Given the description of an element on the screen output the (x, y) to click on. 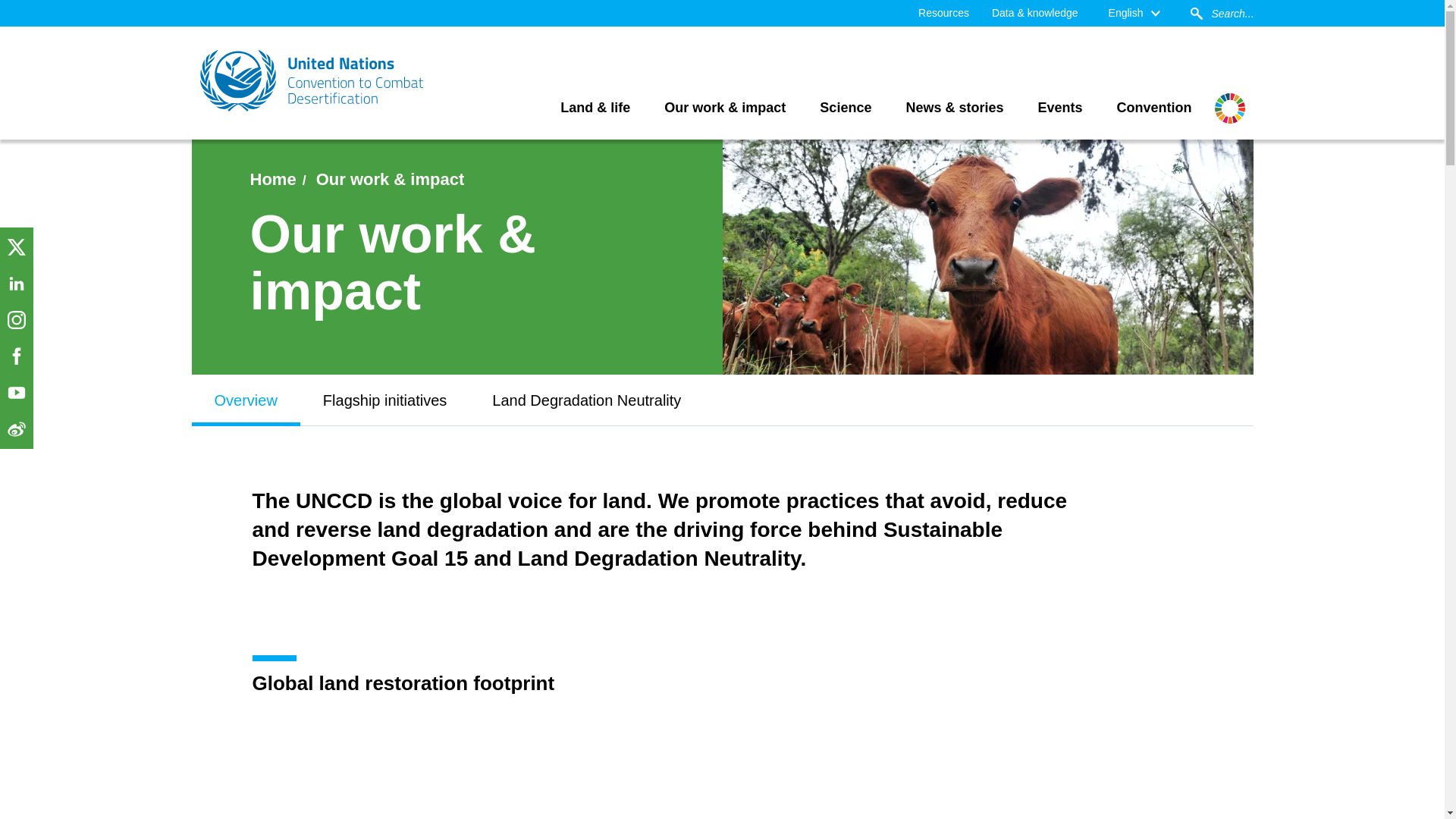
UNCCD (312, 80)
Events (1059, 108)
Home (273, 179)
Resources (943, 12)
Science (845, 108)
Convention (1154, 108)
Land Degradation Neutrality (585, 399)
Overview (244, 399)
Flagship initiatives (383, 399)
English (1133, 12)
